Given the description of an element on the screen output the (x, y) to click on. 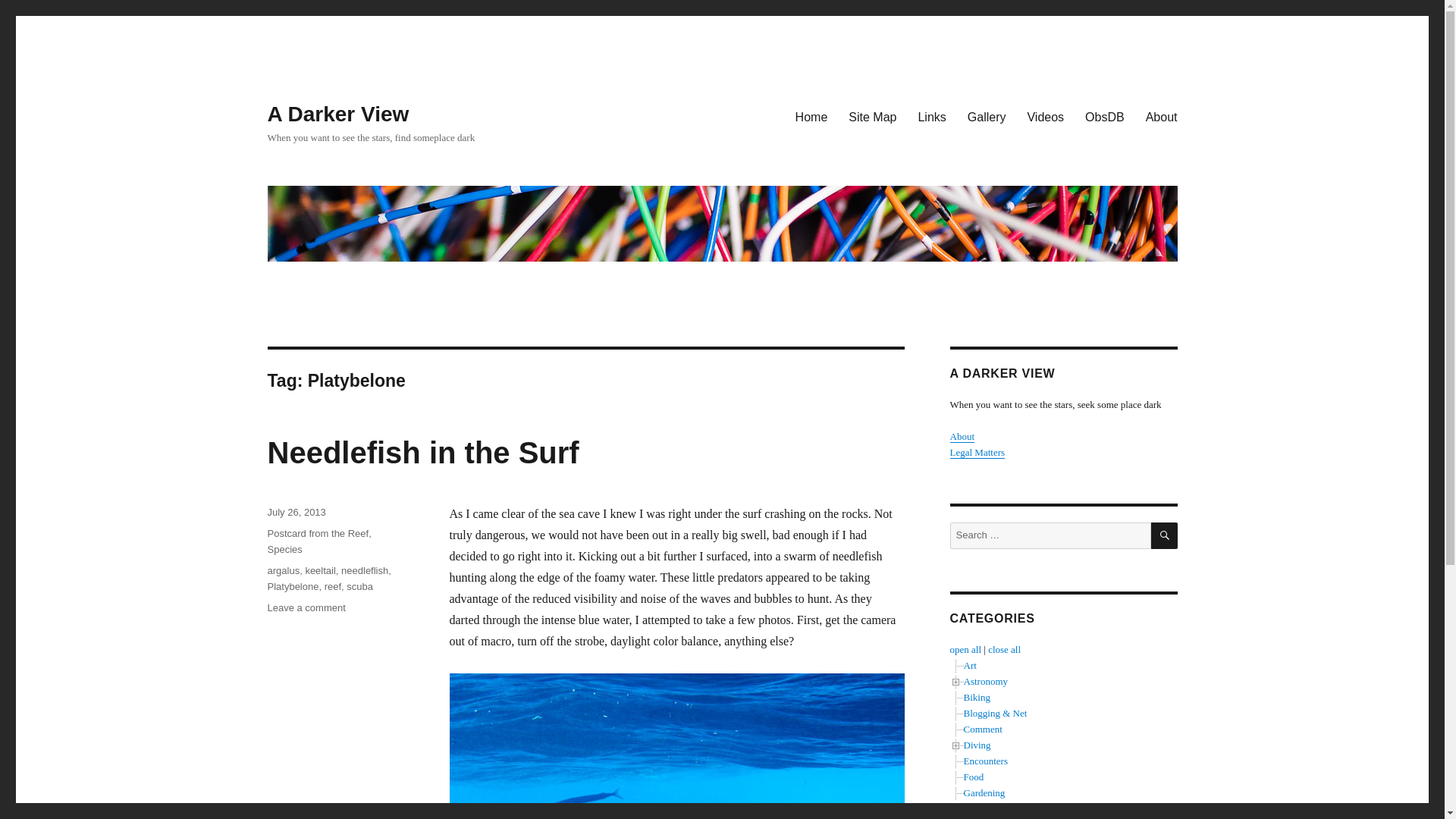
Exploring the cosmos (984, 681)
About (1161, 116)
open all (965, 649)
Gallery (986, 116)
About (961, 436)
needleflish (364, 570)
close all (1004, 649)
July 26, 2013 (295, 511)
Art (968, 665)
open all (965, 649)
Art (968, 665)
ObsDB (305, 607)
Videos (1104, 116)
A Darker View (1045, 116)
